Given the description of an element on the screen output the (x, y) to click on. 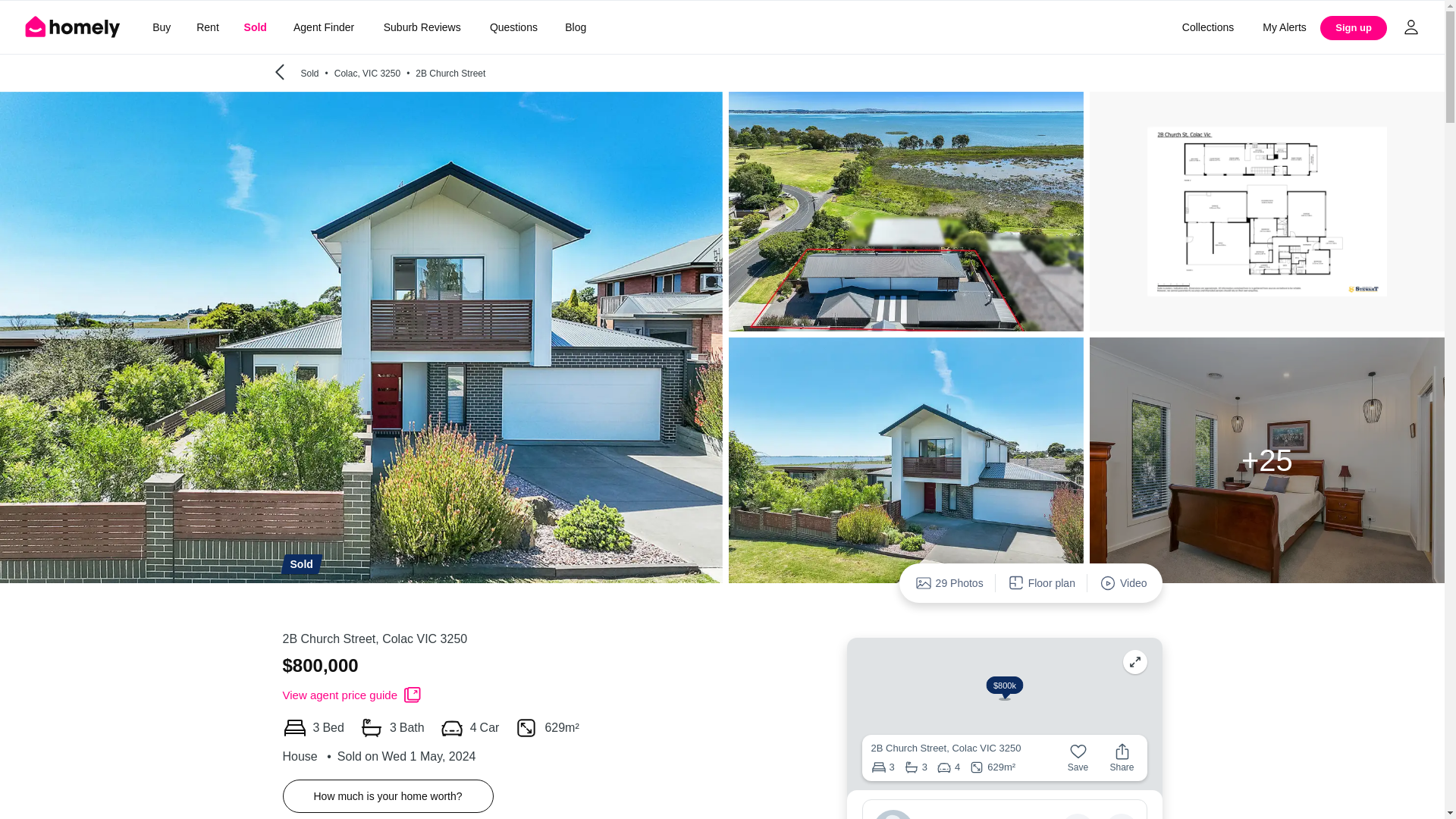
Rent (207, 27)
Collections (1207, 27)
How much is your home worth? (387, 796)
My Alerts (1284, 27)
Collections (1207, 27)
Agent Finder (323, 27)
Agent Finder (323, 27)
Video (1122, 583)
29 Photos (948, 583)
Floor plan (1041, 583)
